Given the description of an element on the screen output the (x, y) to click on. 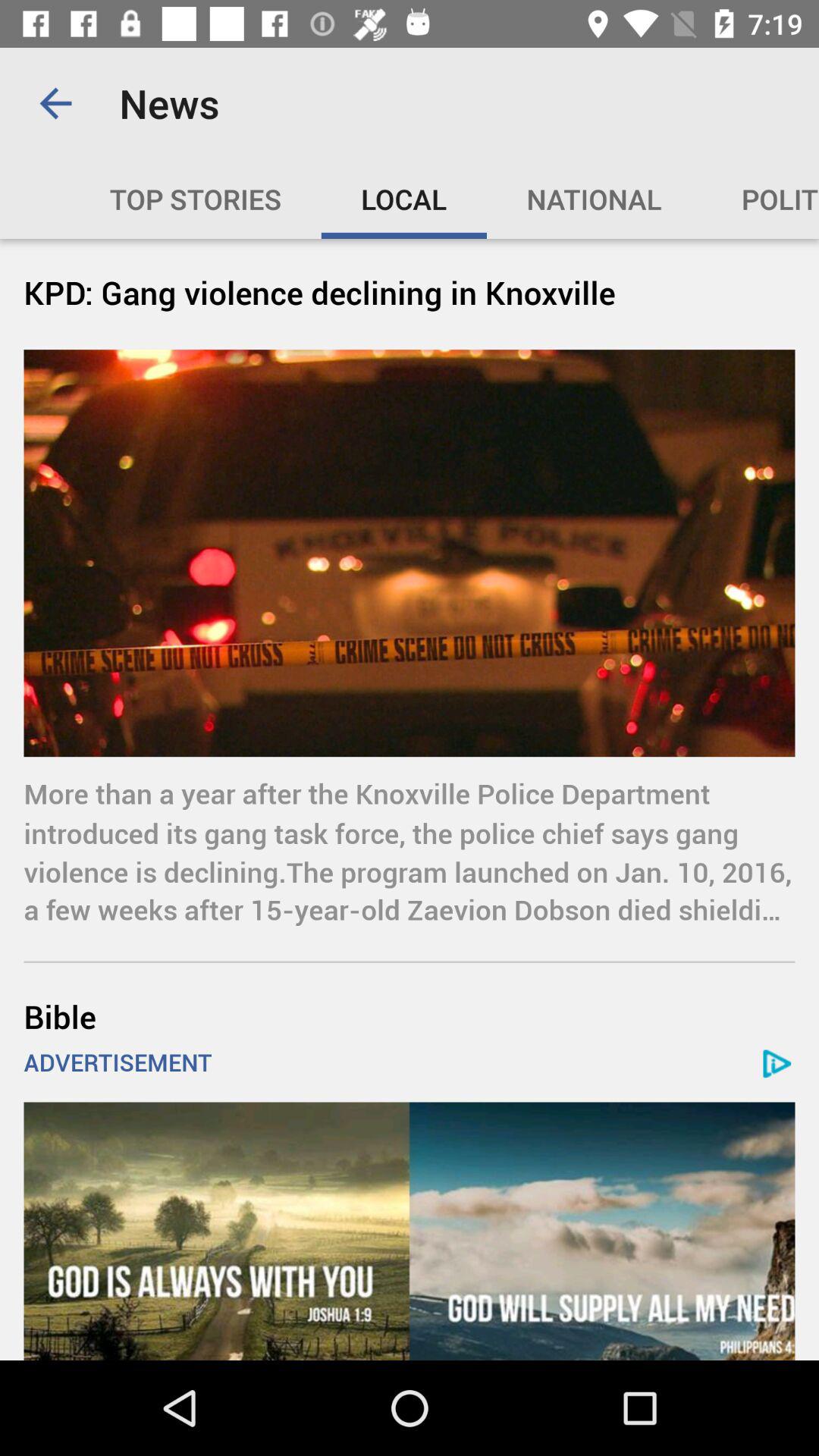
press bible (409, 1015)
